Given the description of an element on the screen output the (x, y) to click on. 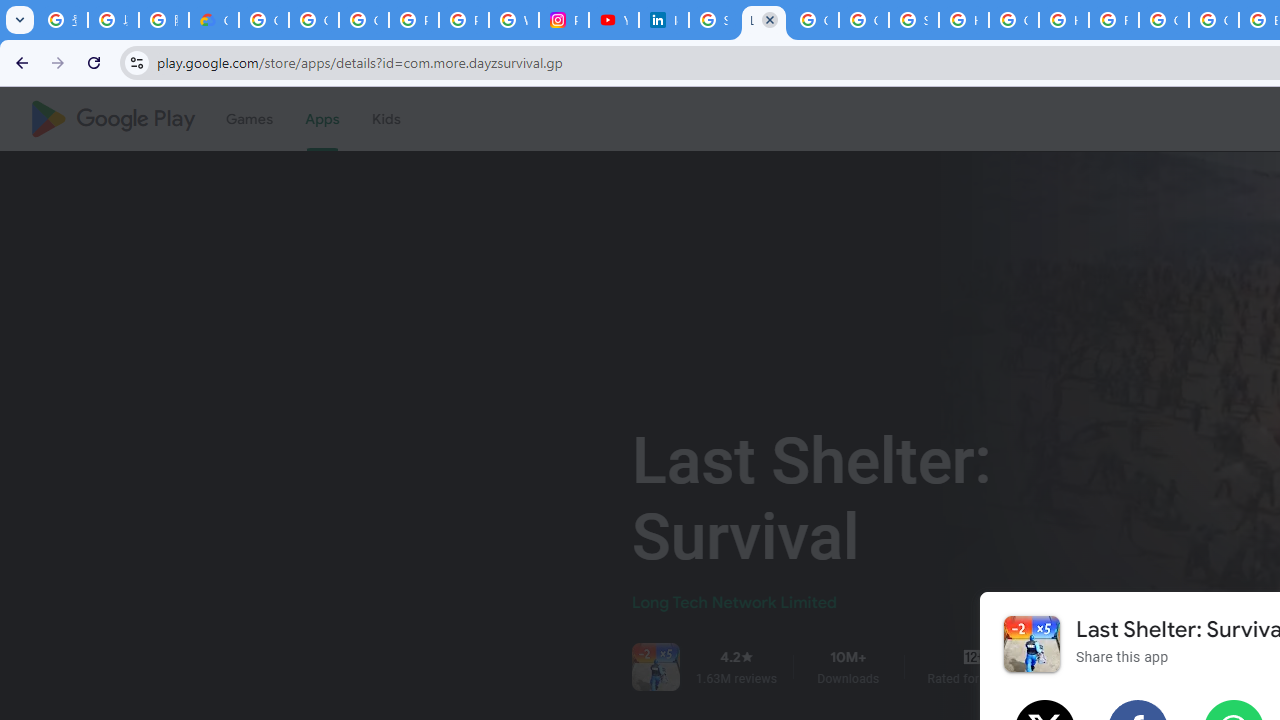
Google Workspace - Specific Terms (863, 20)
How do I create a new Google Account? - Google Account Help (1064, 20)
